Given the description of an element on the screen output the (x, y) to click on. 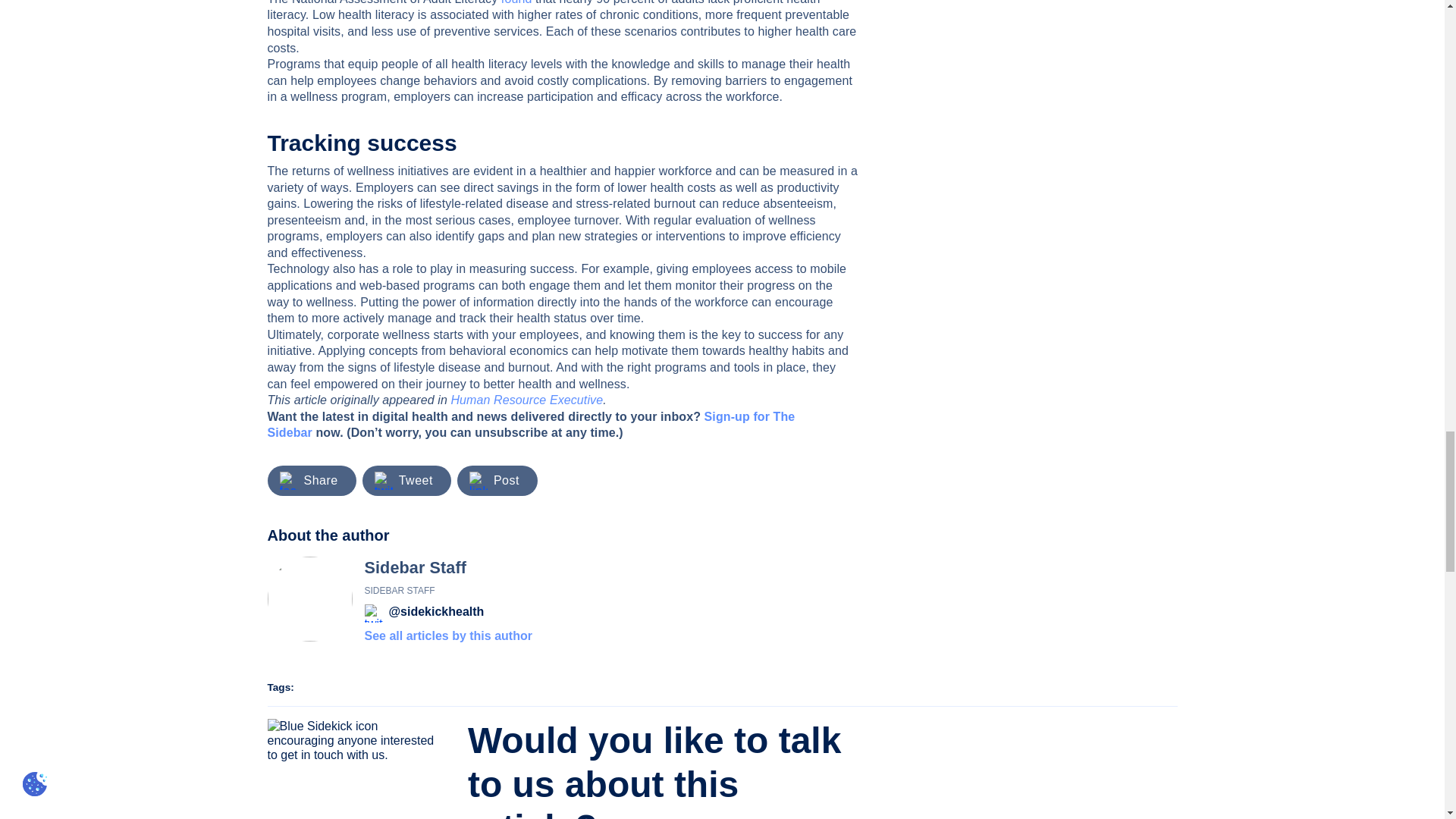
Share on Facebook (319, 480)
Tweet (415, 480)
Post (506, 480)
